Given the description of an element on the screen output the (x, y) to click on. 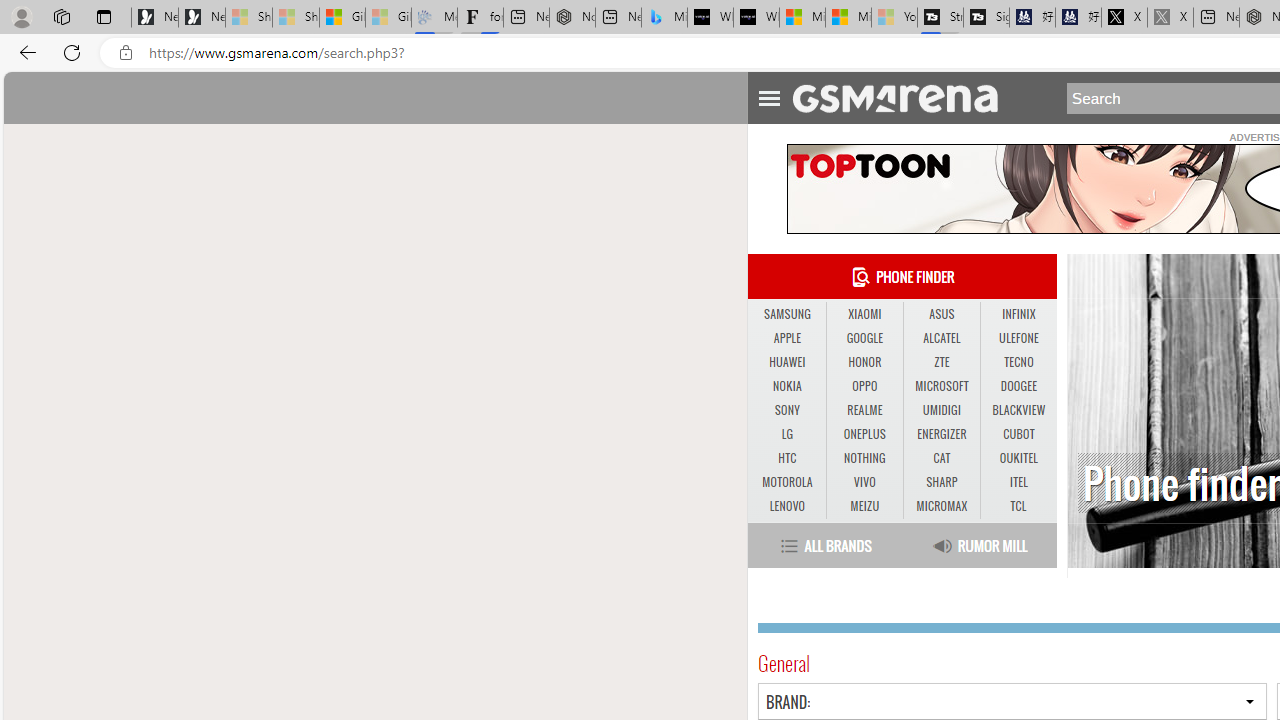
INFINIX (1018, 313)
CAT (941, 458)
OPPO (863, 385)
NOKIA (786, 386)
ITEL (1018, 483)
SAMSUNG (786, 314)
DOOGEE (1018, 386)
MICROMAX (941, 506)
SHARP (941, 482)
OUKITEL (1018, 458)
